Given the description of an element on the screen output the (x, y) to click on. 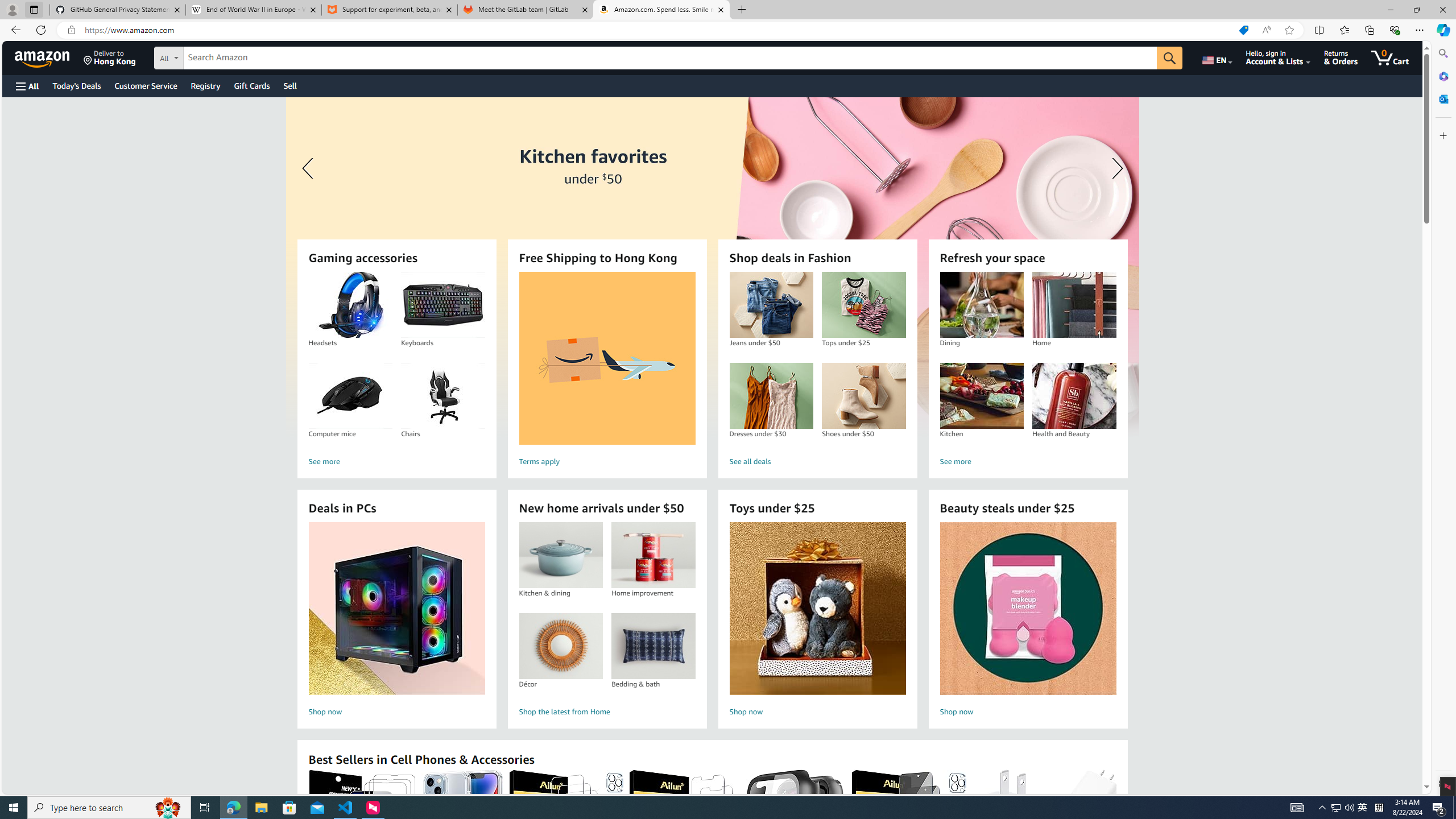
Shoes under $50 (863, 395)
Free Shipping to Hong Kong (606, 357)
Shopping in Microsoft Edge (1243, 29)
Search (1442, 53)
Returns & Orders (1340, 57)
Jeans under $50 (771, 304)
Favorites (1344, 29)
Home (1074, 304)
See more (1027, 461)
Registry (205, 85)
